Given the description of an element on the screen output the (x, y) to click on. 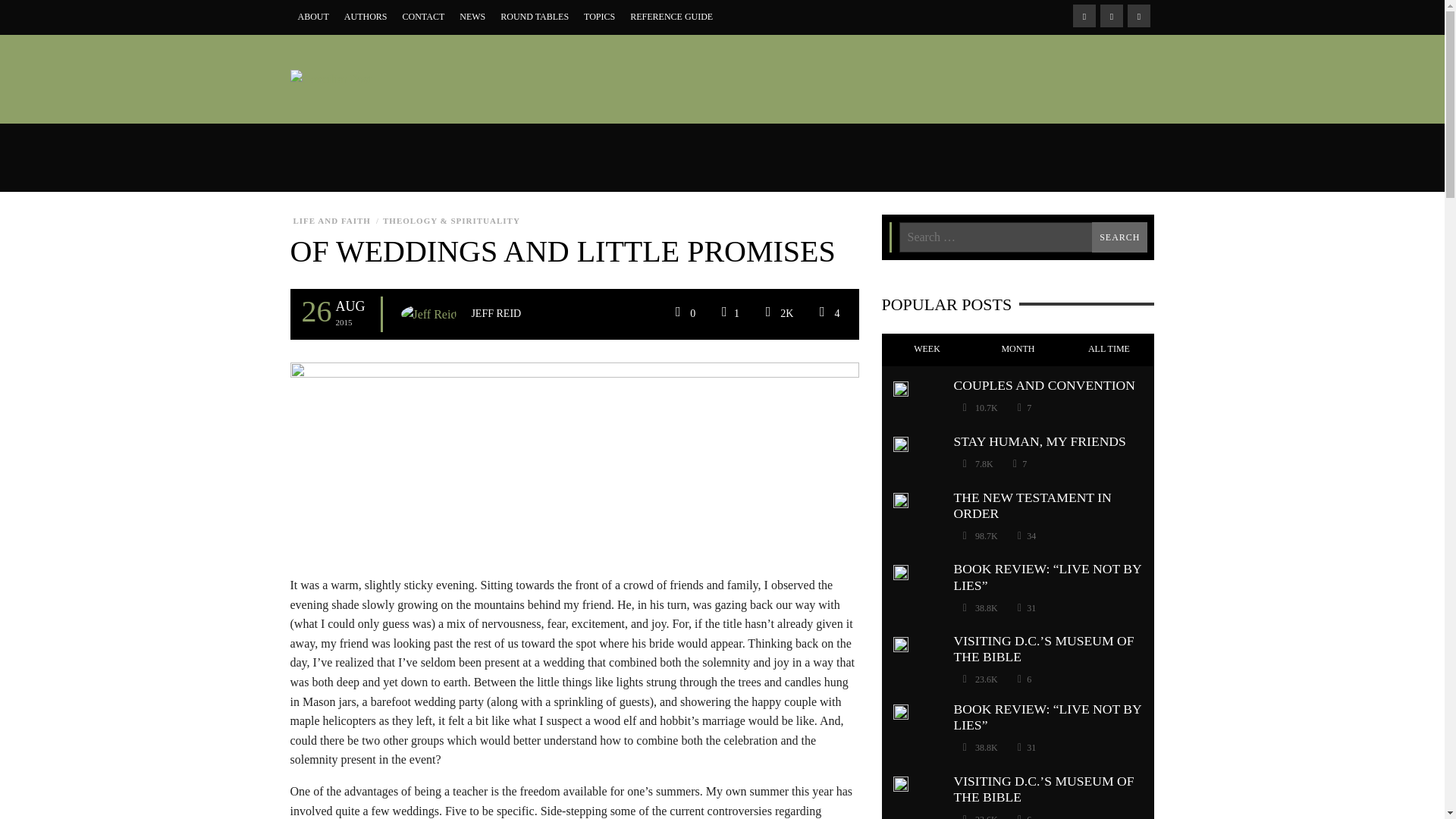
Instagram (1110, 15)
View all posts in Life and Faith (330, 220)
Facebook (1082, 15)
Search (1119, 236)
NEWS (472, 17)
Twitter (1138, 15)
Search (1119, 236)
AUTHORS (365, 17)
Permalink to Couples and Convention (1044, 385)
View all posts by Jeff Reid (495, 313)
